Given the description of an element on the screen output the (x, y) to click on. 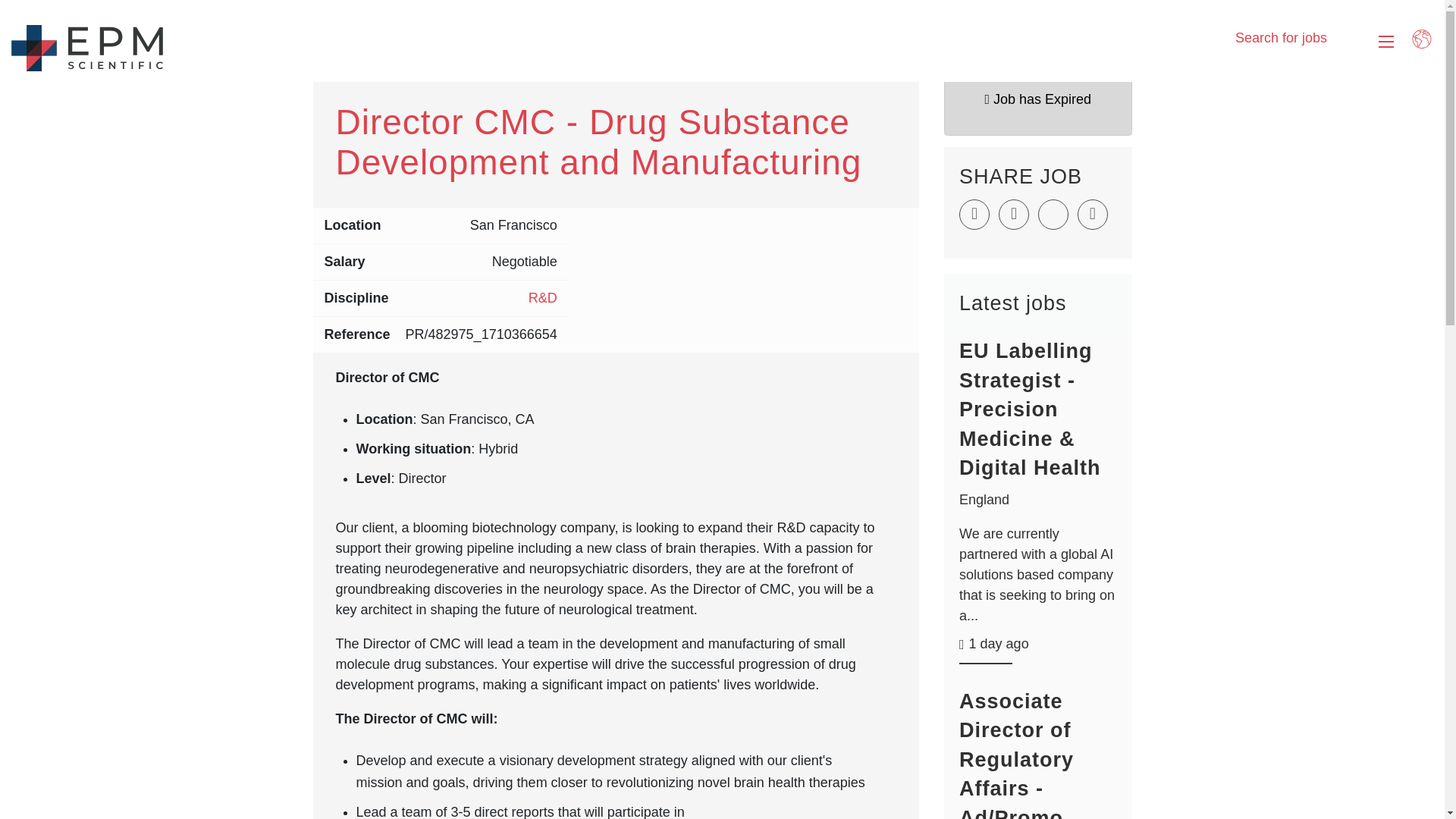
YouTube (1359, 715)
Instagram (1324, 715)
WeChat (1393, 715)
Tweet this (974, 214)
share on LinkedIn (1053, 214)
LinkedIn (1256, 715)
Email (1092, 214)
Go to the Homepage (79, 623)
Back to jobs (721, 55)
Twitter (1291, 715)
